Given the description of an element on the screen output the (x, y) to click on. 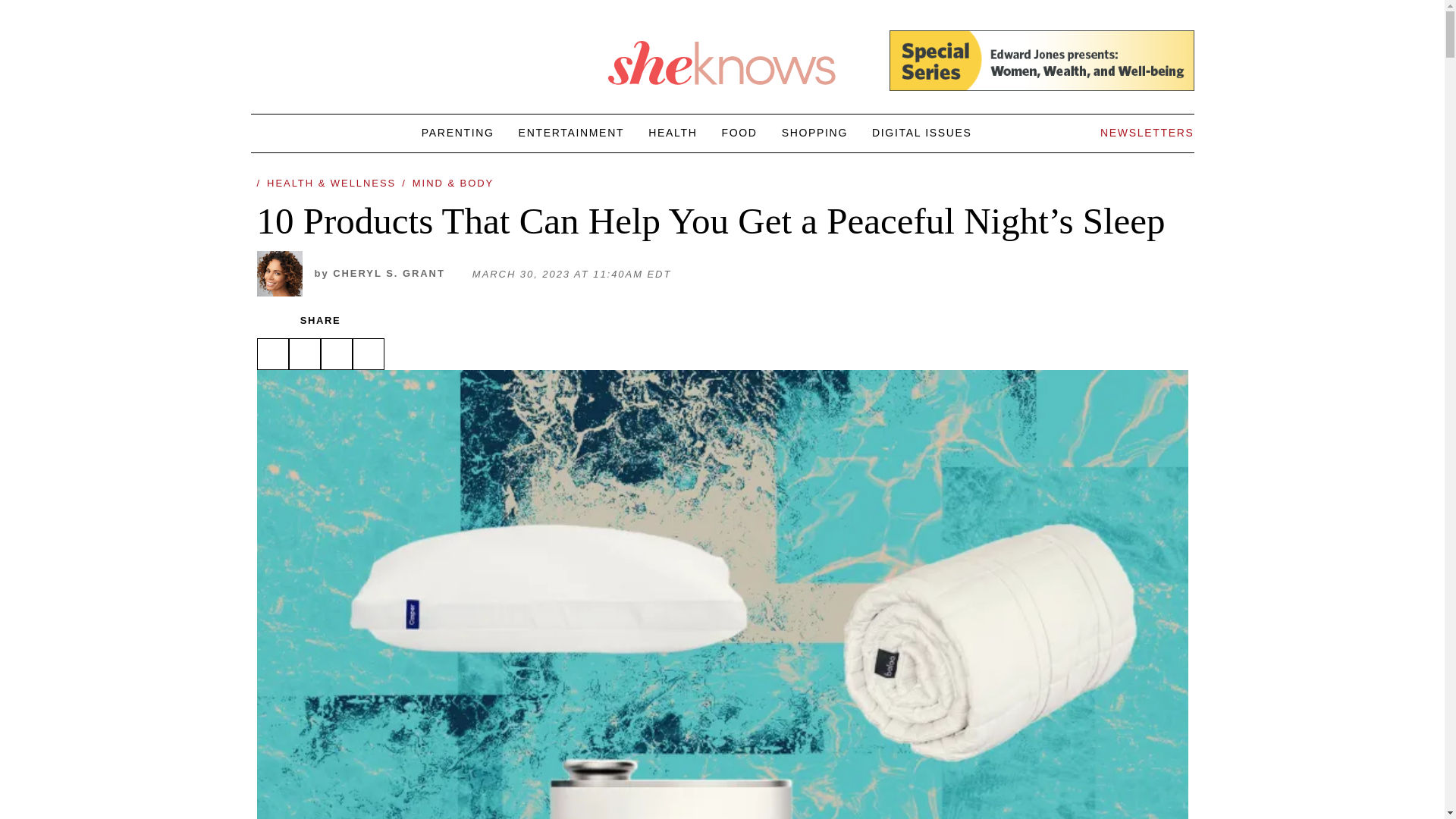
ENTERTAINMENT (571, 132)
Plus Icon (286, 63)
DIGITAL ISSUES (261, 63)
Plus Icon (922, 132)
Plus Icon (738, 132)
Plus Icon (387, 273)
